Given the description of an element on the screen output the (x, y) to click on. 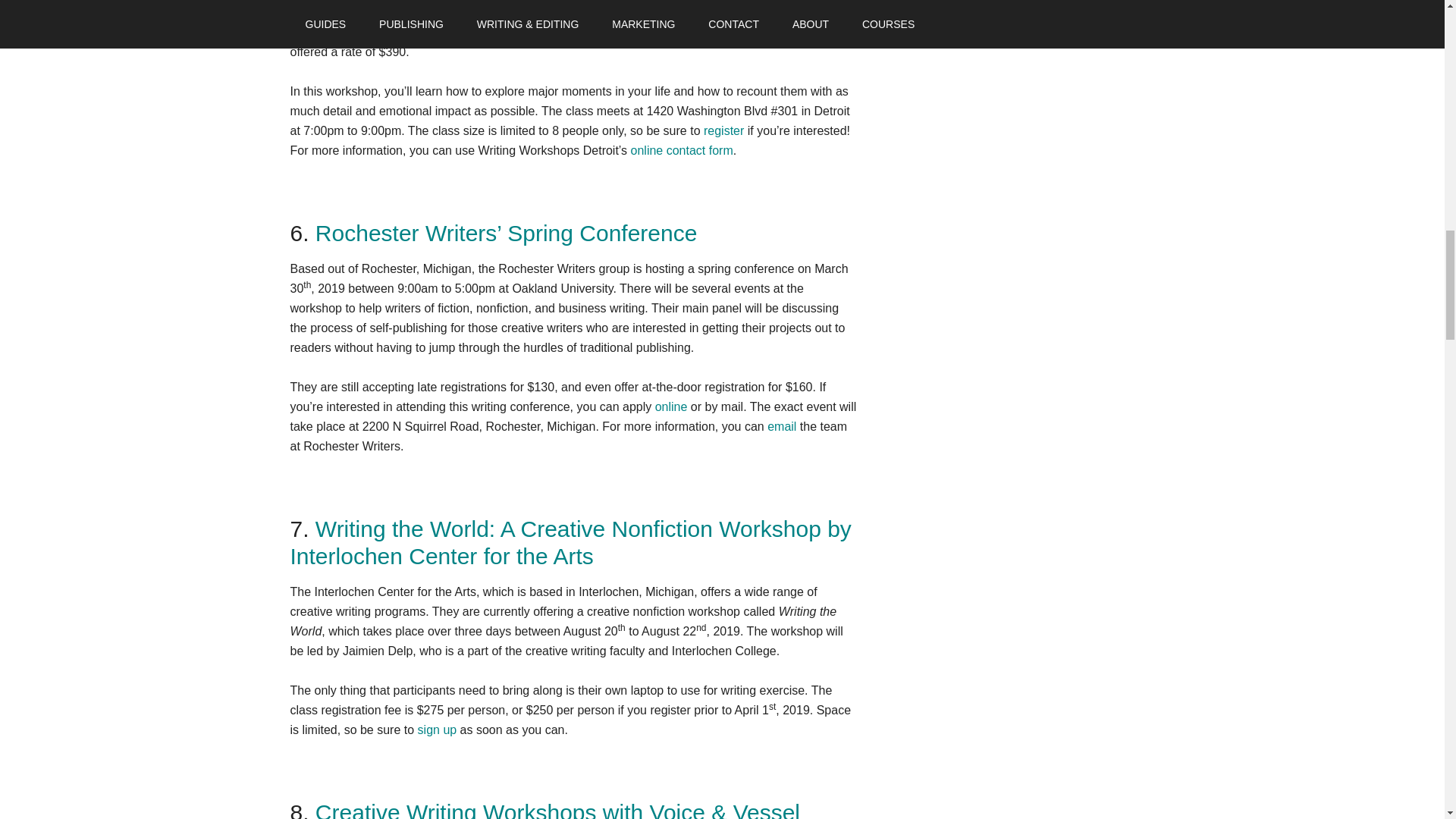
sign up (437, 729)
register (723, 130)
online contact form (681, 150)
email (781, 426)
online (671, 406)
